Given the description of an element on the screen output the (x, y) to click on. 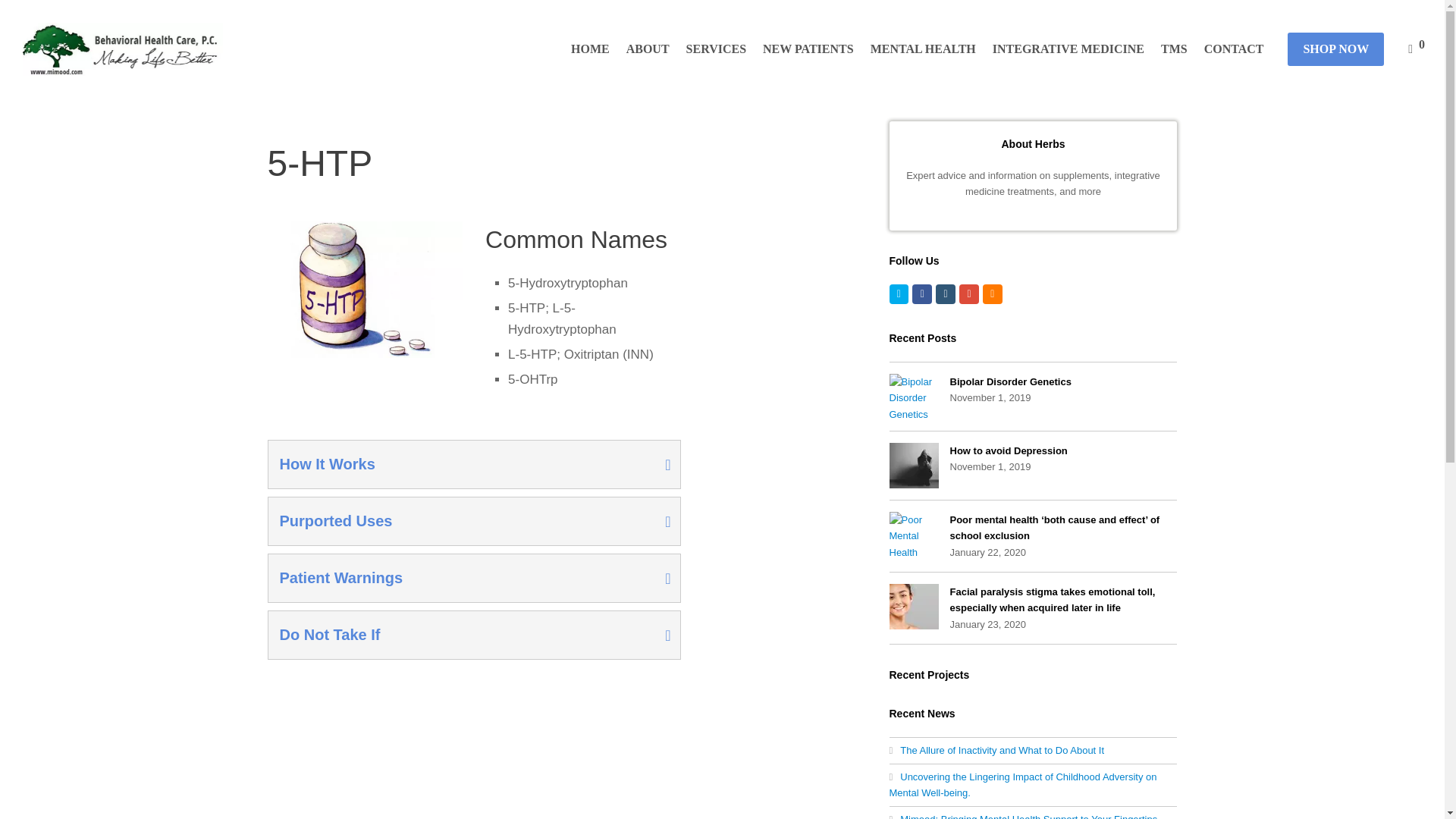
Instagram (945, 293)
Behavioral Health Care, P.C. (122, 48)
The Allure of Inactivity and What to Do About It (995, 749)
ABOUT (647, 48)
CONTACT (1233, 48)
Facebook (921, 293)
Bipolar Disorder Genetics (1009, 381)
GooglePlus (968, 293)
NEW PATIENTS (807, 48)
SERVICES (716, 48)
Bipolar Disorder Genetics (912, 396)
How to avoid Depression (912, 465)
How to avoid Depression (1008, 450)
